Given the description of an element on the screen output the (x, y) to click on. 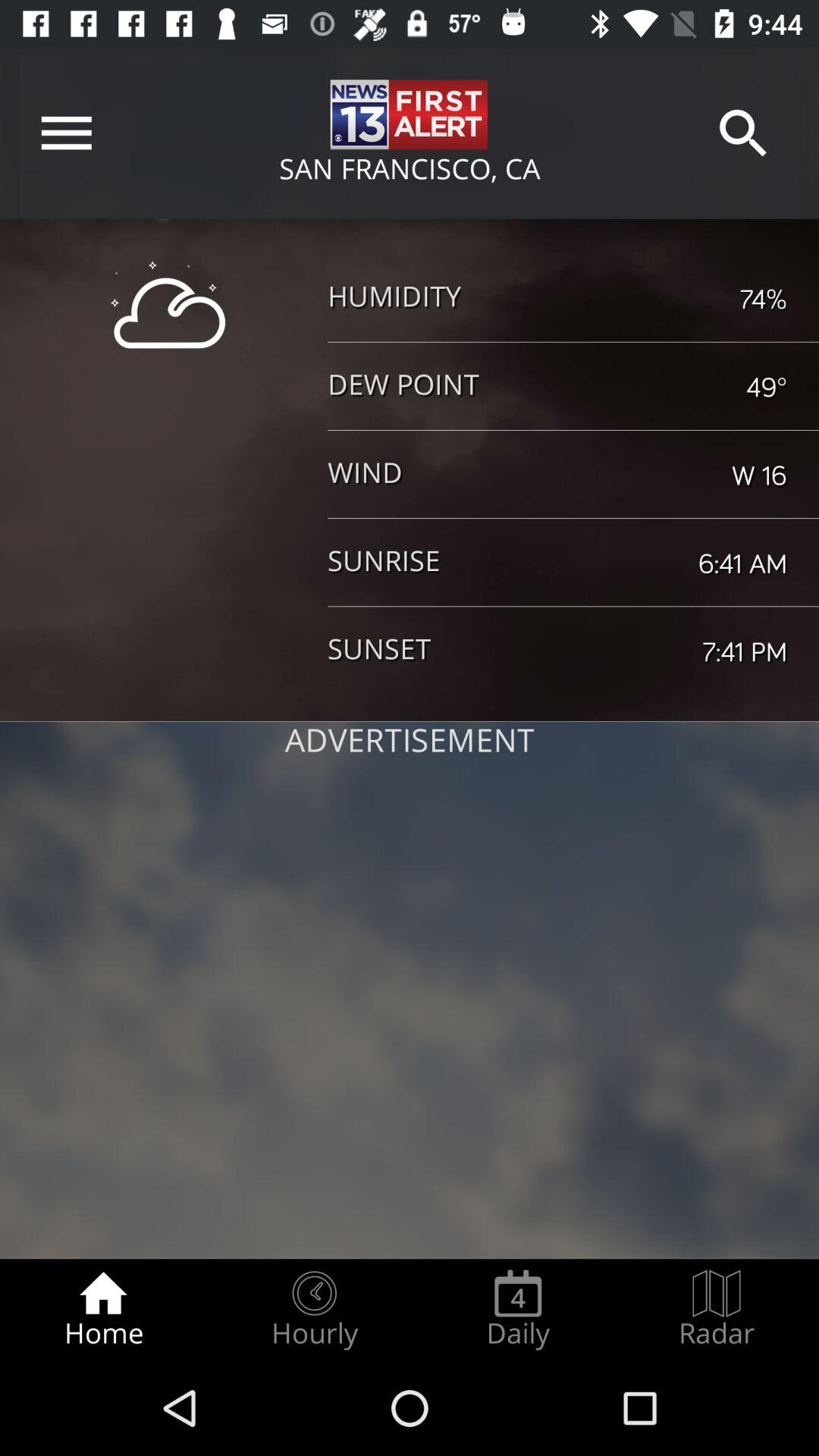
open the home item (103, 1309)
